Given the description of an element on the screen output the (x, y) to click on. 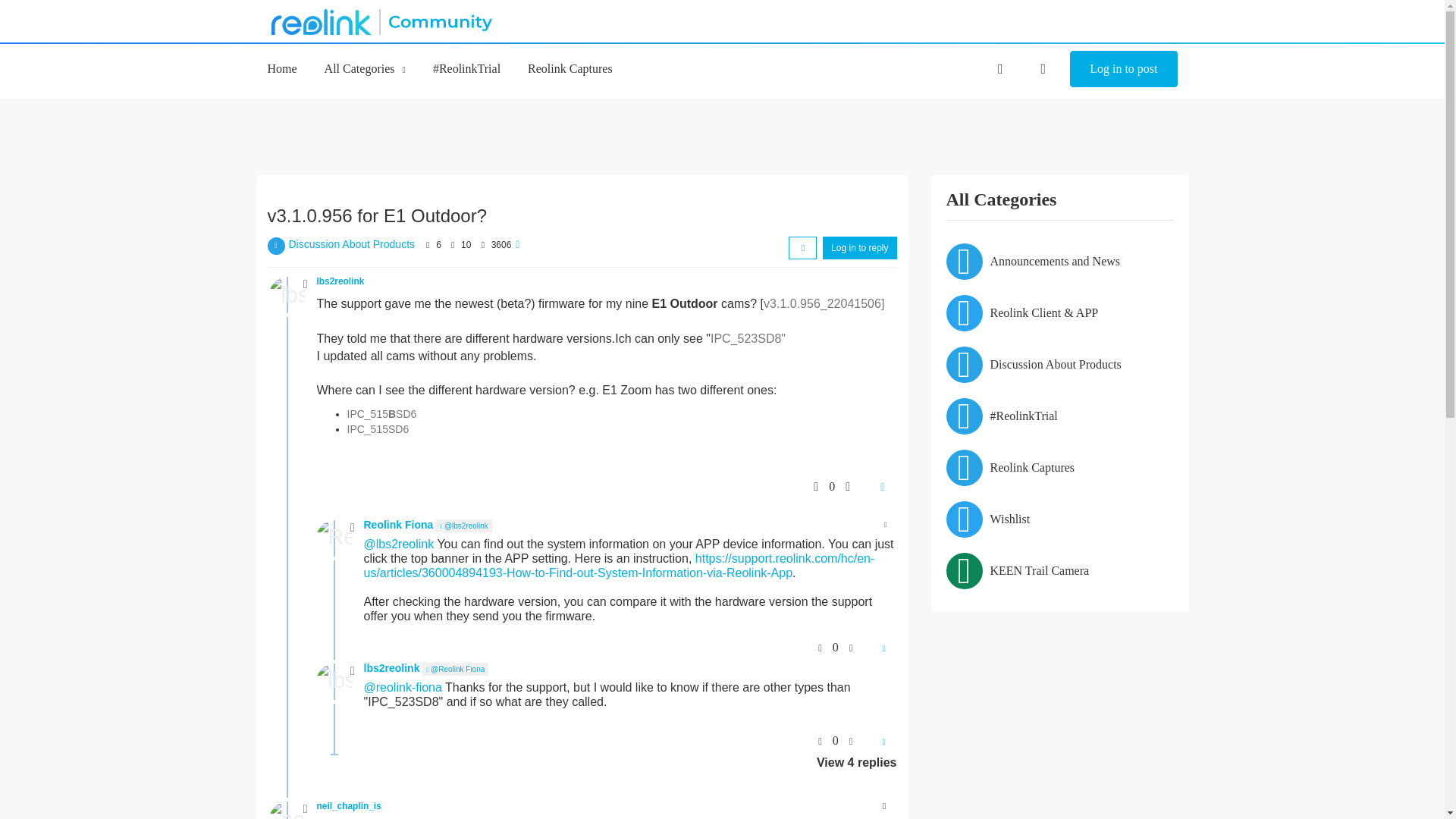
Views (482, 244)
Posters (427, 244)
lbs2reolink (285, 294)
Discussion About Products (351, 244)
lbs2reolink (341, 281)
Reolink Fiona (333, 538)
10 (465, 244)
Log in to reply (859, 247)
3606 (502, 244)
Reolink Captures (569, 68)
Posts (452, 244)
Sort by (802, 247)
Home (281, 68)
All Categories (365, 68)
Log in to post (1123, 68)
